Given the description of an element on the screen output the (x, y) to click on. 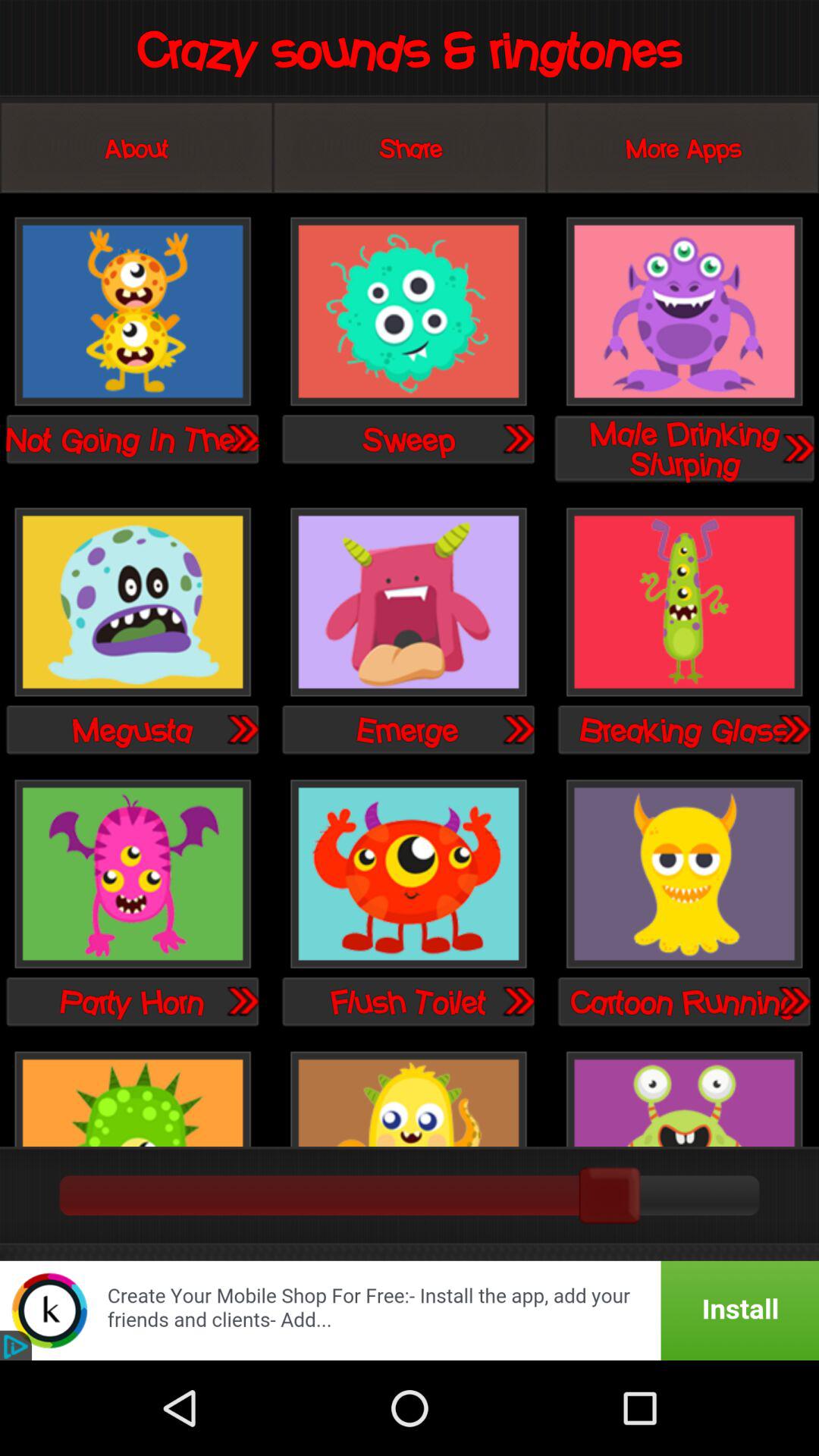
select the ringtone (132, 602)
